Given the description of an element on the screen output the (x, y) to click on. 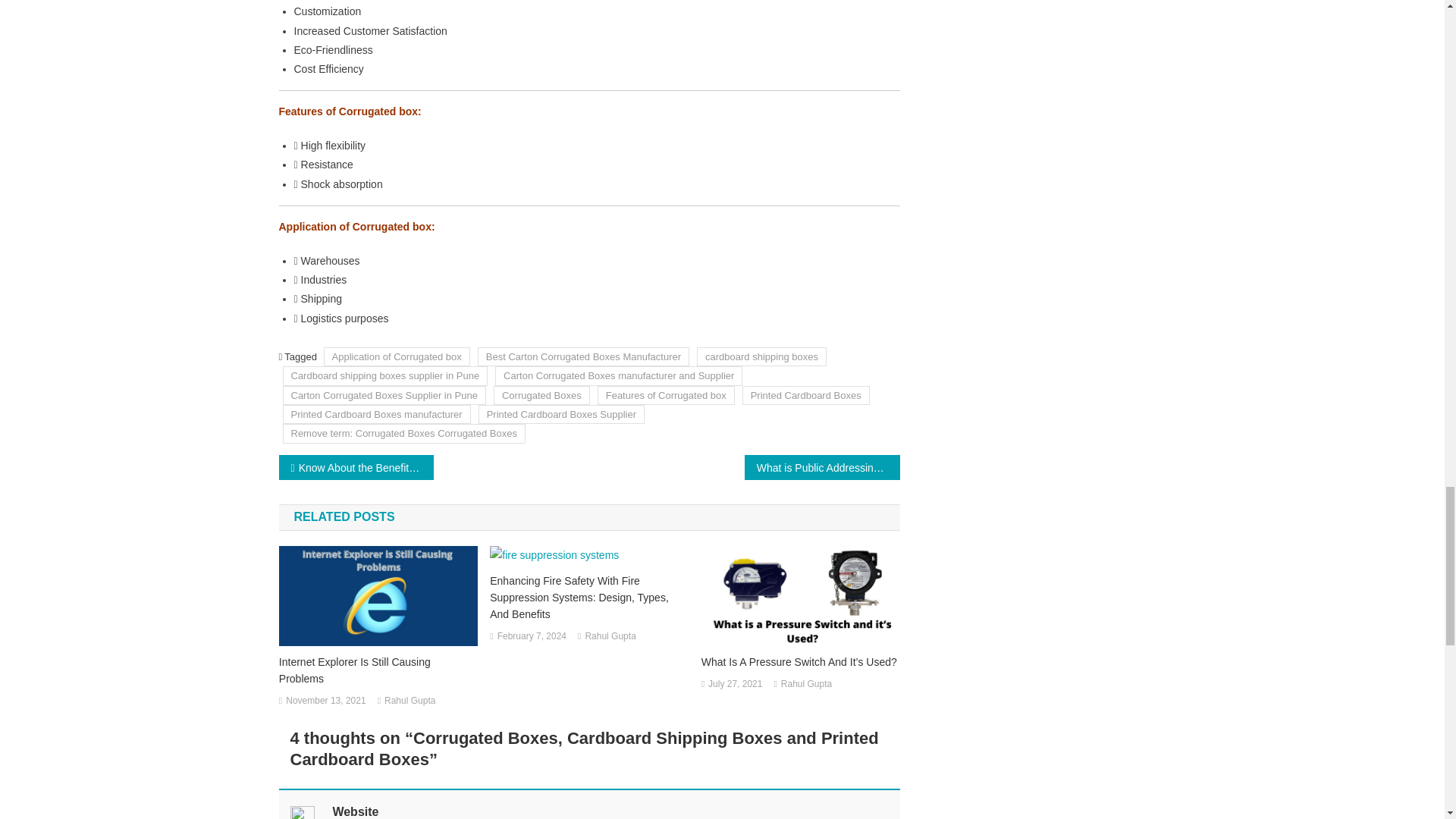
Application of Corrugated box (396, 356)
cardboard shipping boxes (762, 356)
Best Carton Corrugated Boxes Manufacturer (582, 356)
